Given the description of an element on the screen output the (x, y) to click on. 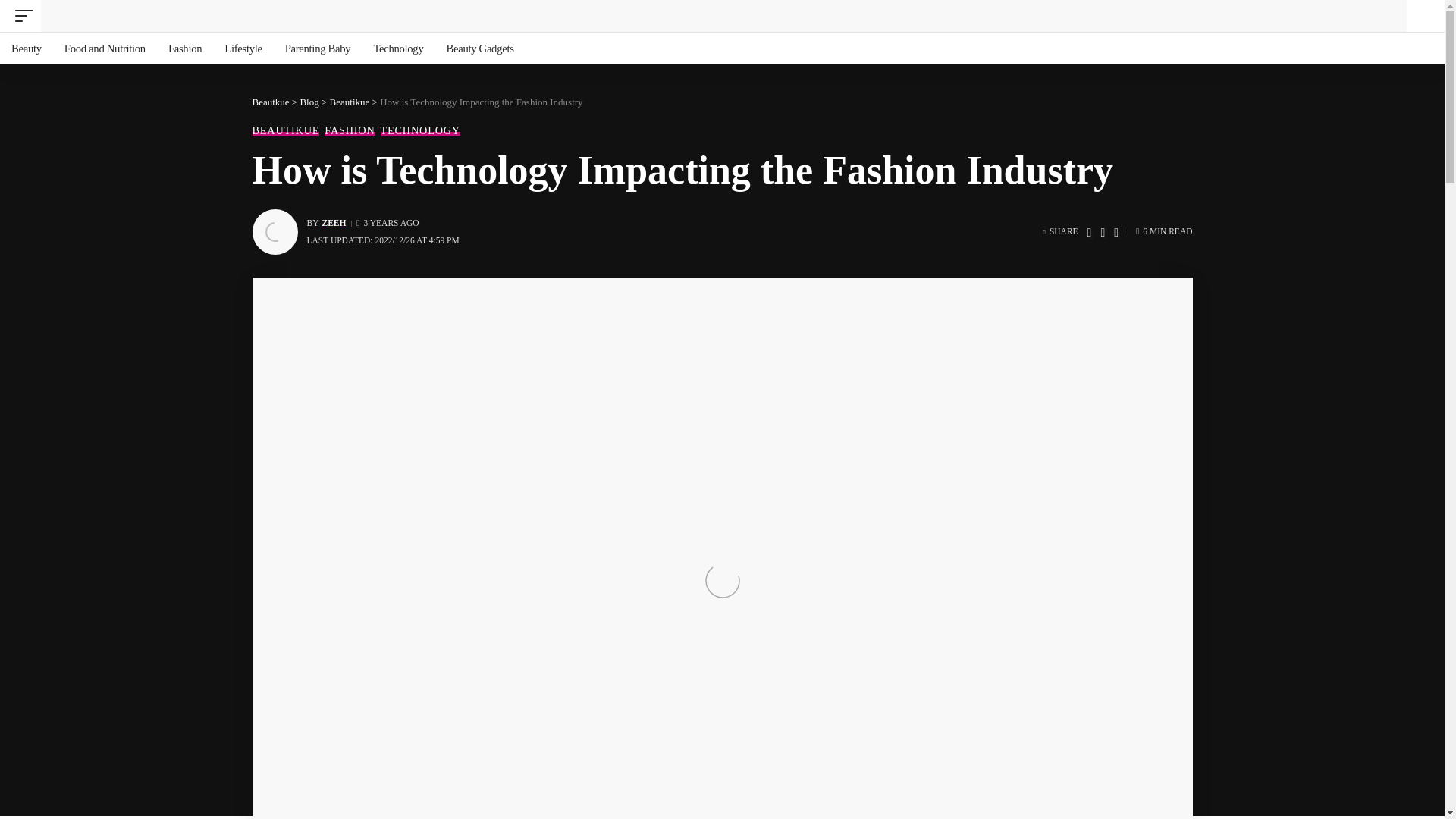
FASHION (349, 129)
Beauty Gadgets (478, 48)
Beautkue (723, 15)
Beauty (26, 48)
ZEEH (333, 223)
TECHNOLOGY (420, 129)
Parenting Baby (317, 48)
Technology (397, 48)
Beautkue (269, 101)
BEAUTIKUE (284, 129)
Lifestyle (242, 48)
Blog (308, 101)
Fashion (184, 48)
Go to Beautkue. (269, 101)
Food and Nutrition (104, 48)
